Given the description of an element on the screen output the (x, y) to click on. 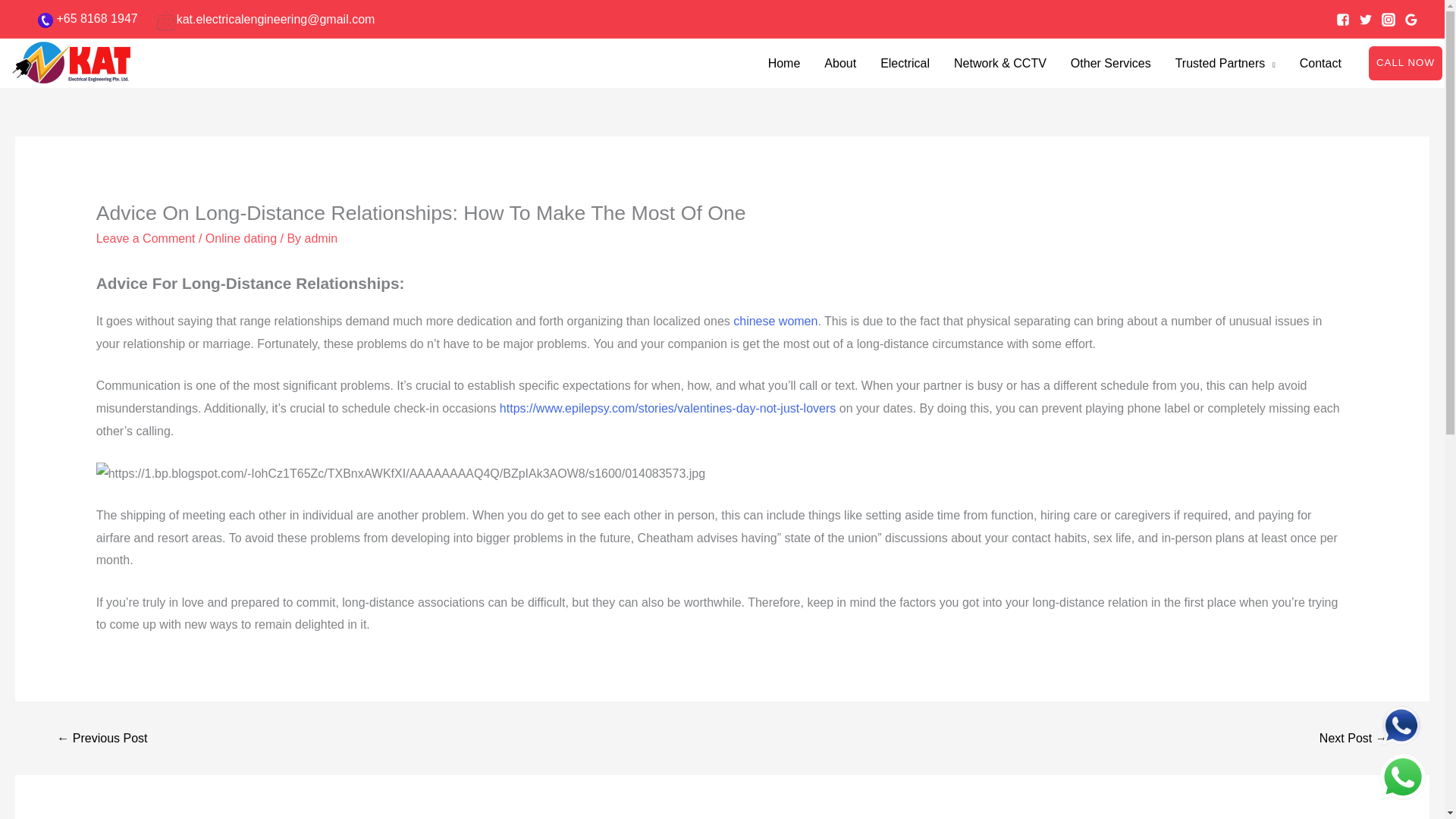
View all posts by admin (320, 237)
CALL NOW (1393, 62)
blue-whatsapp-logo-clip-art-30 (1401, 725)
Leave a Comment (145, 237)
Online dating (240, 237)
Home (783, 62)
About (839, 62)
Other Services (1110, 62)
chinese women (774, 320)
admin (320, 237)
